Given the description of an element on the screen output the (x, y) to click on. 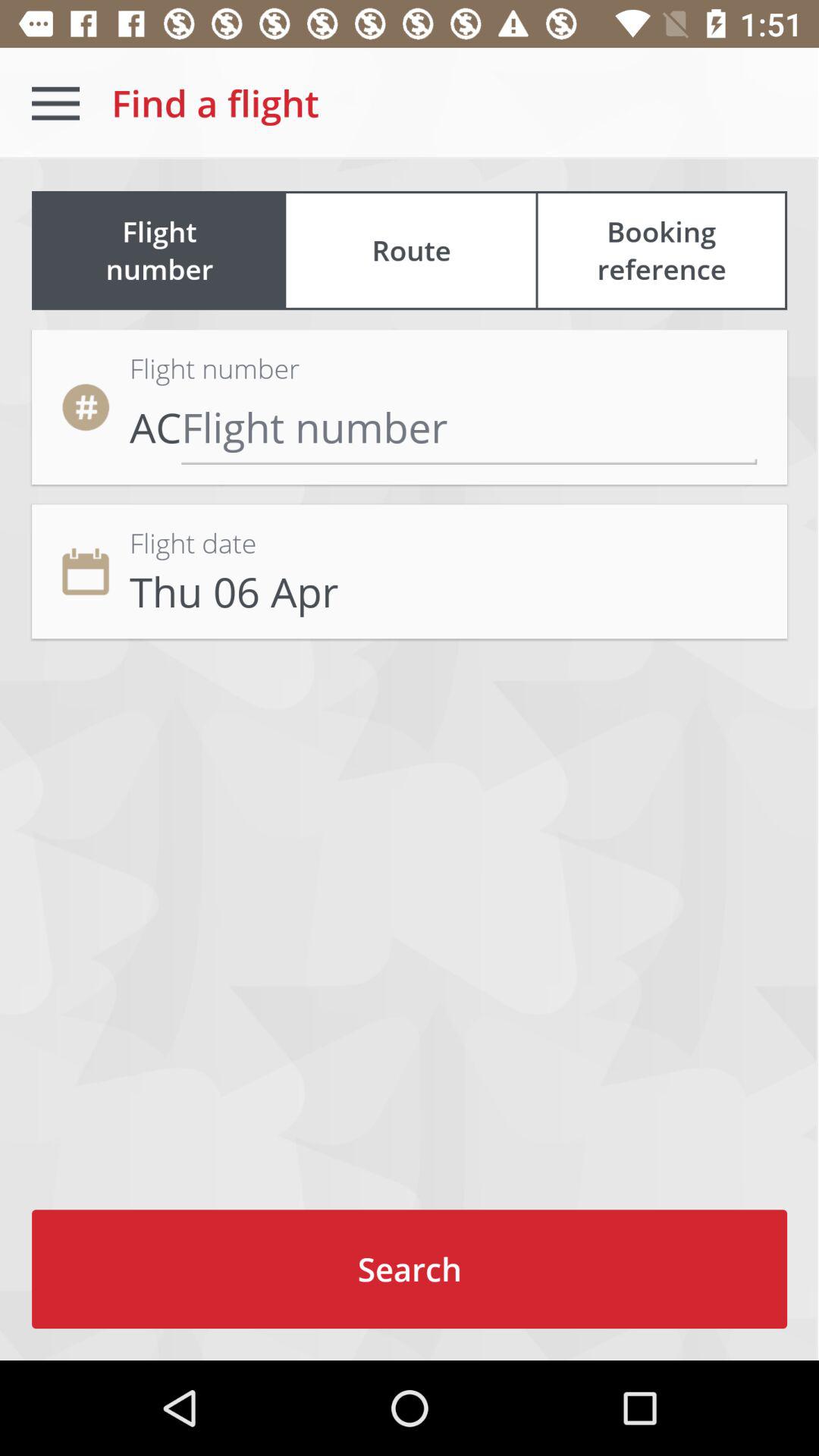
swipe until booking reference item (661, 250)
